Given the description of an element on the screen output the (x, y) to click on. 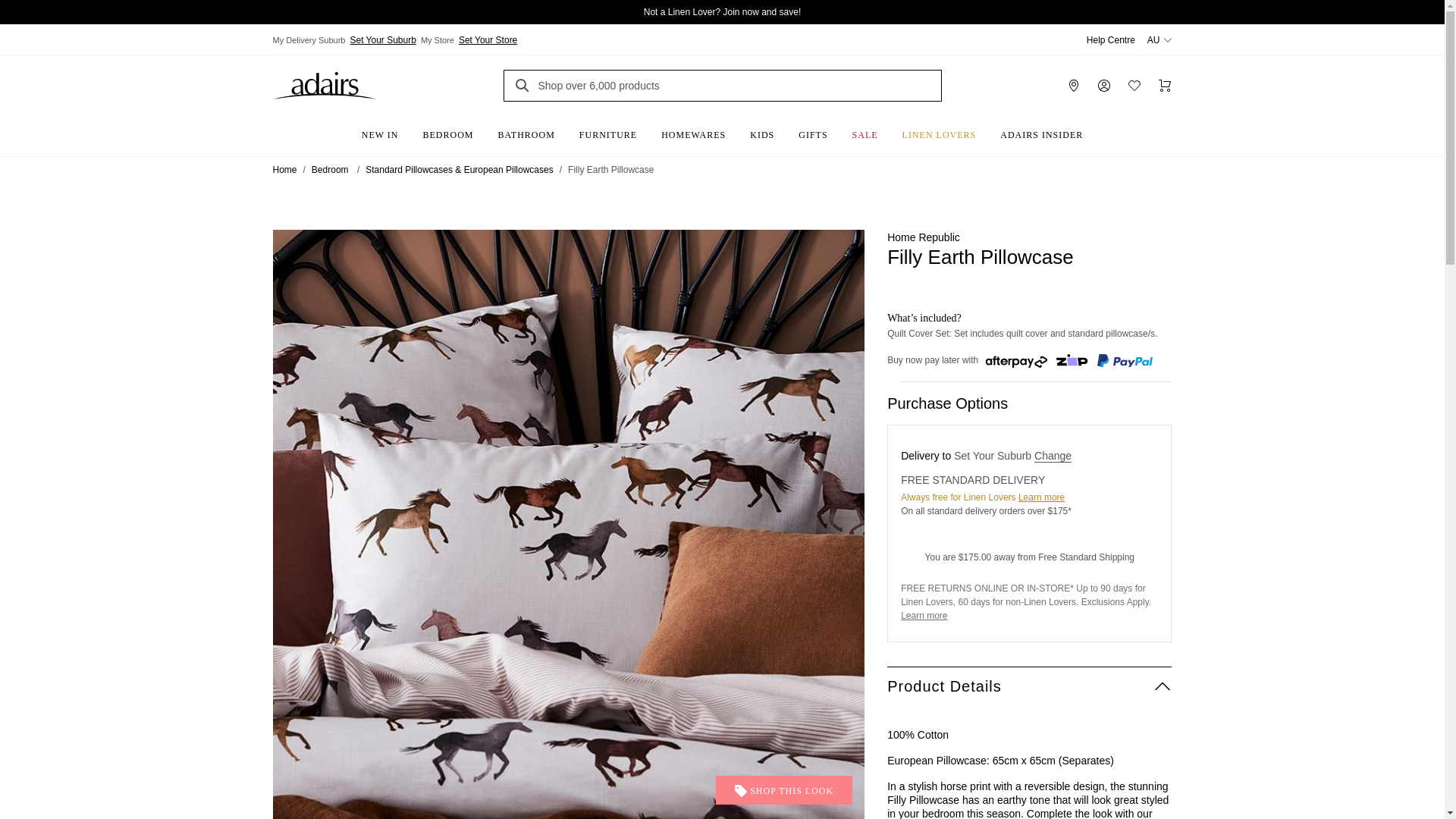
GIFTS (813, 130)
Join Linen Lovers (1040, 497)
BEDROOM (448, 130)
ADAIRS INSIDER (1041, 130)
KIDS (762, 130)
BATHROOM (526, 130)
Not a Linen Lover? Join now and save! (721, 12)
SALE (864, 130)
FURNITURE (608, 130)
Set Your Store (487, 39)
LINEN LOVERS (938, 130)
Set Your Suburb (382, 39)
HOMEWARES (693, 130)
NEW IN (379, 130)
Help Centre (1110, 40)
